Given the description of an element on the screen output the (x, y) to click on. 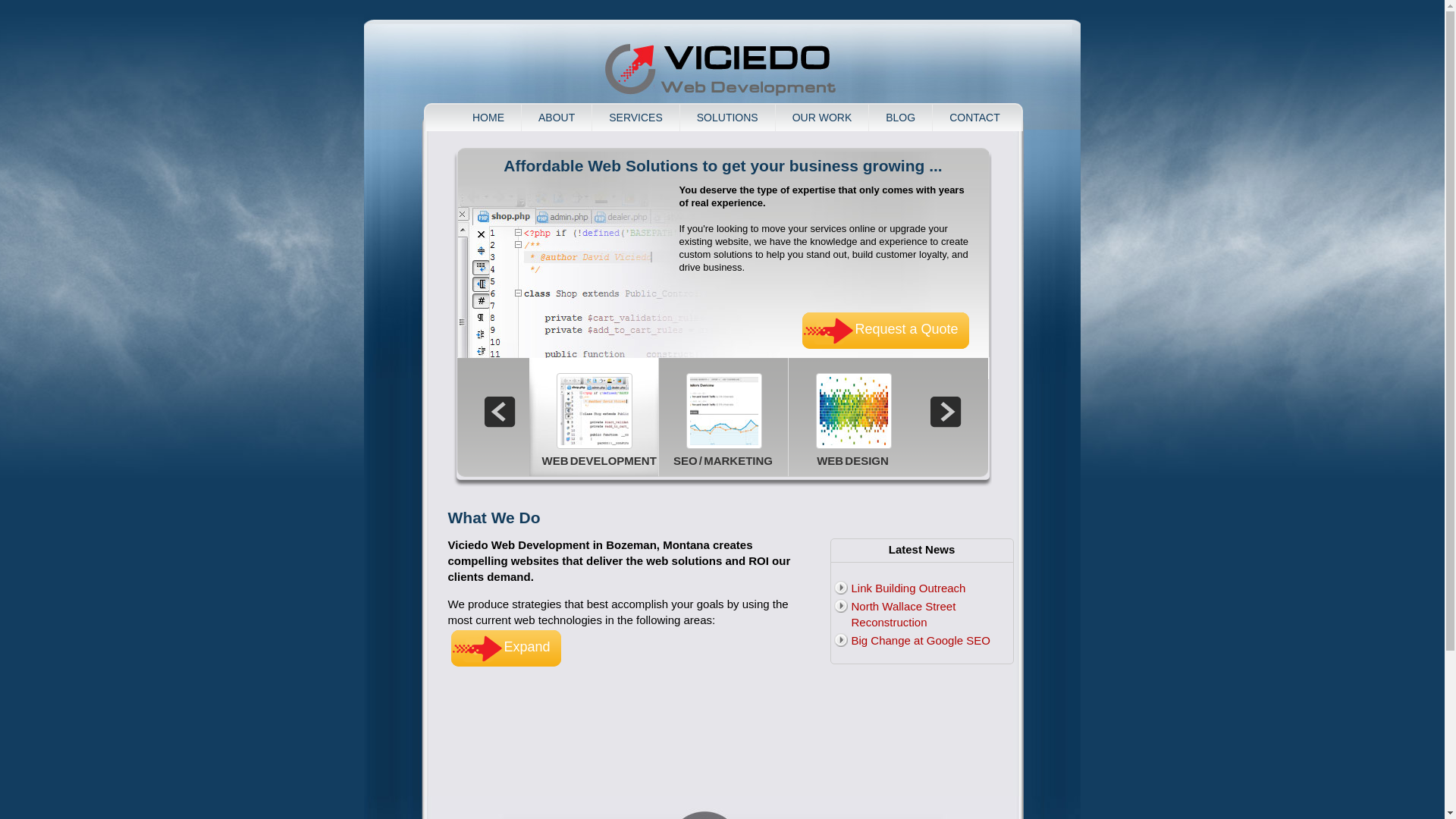
Big Change at Google SEO (920, 640)
North Wallace Street Reconstruction (902, 613)
HOME (488, 117)
SERVICES (635, 117)
Request a Quote (885, 330)
SOLUTIONS (726, 117)
OUR WORK (822, 117)
Link Building Outreach (907, 587)
View More (504, 647)
WEB DEVELOPMENT (593, 416)
Expand (504, 647)
WEB DESIGN (853, 416)
ABOUT (556, 117)
CONTACT (974, 117)
BLOG (900, 117)
